Given the description of an element on the screen output the (x, y) to click on. 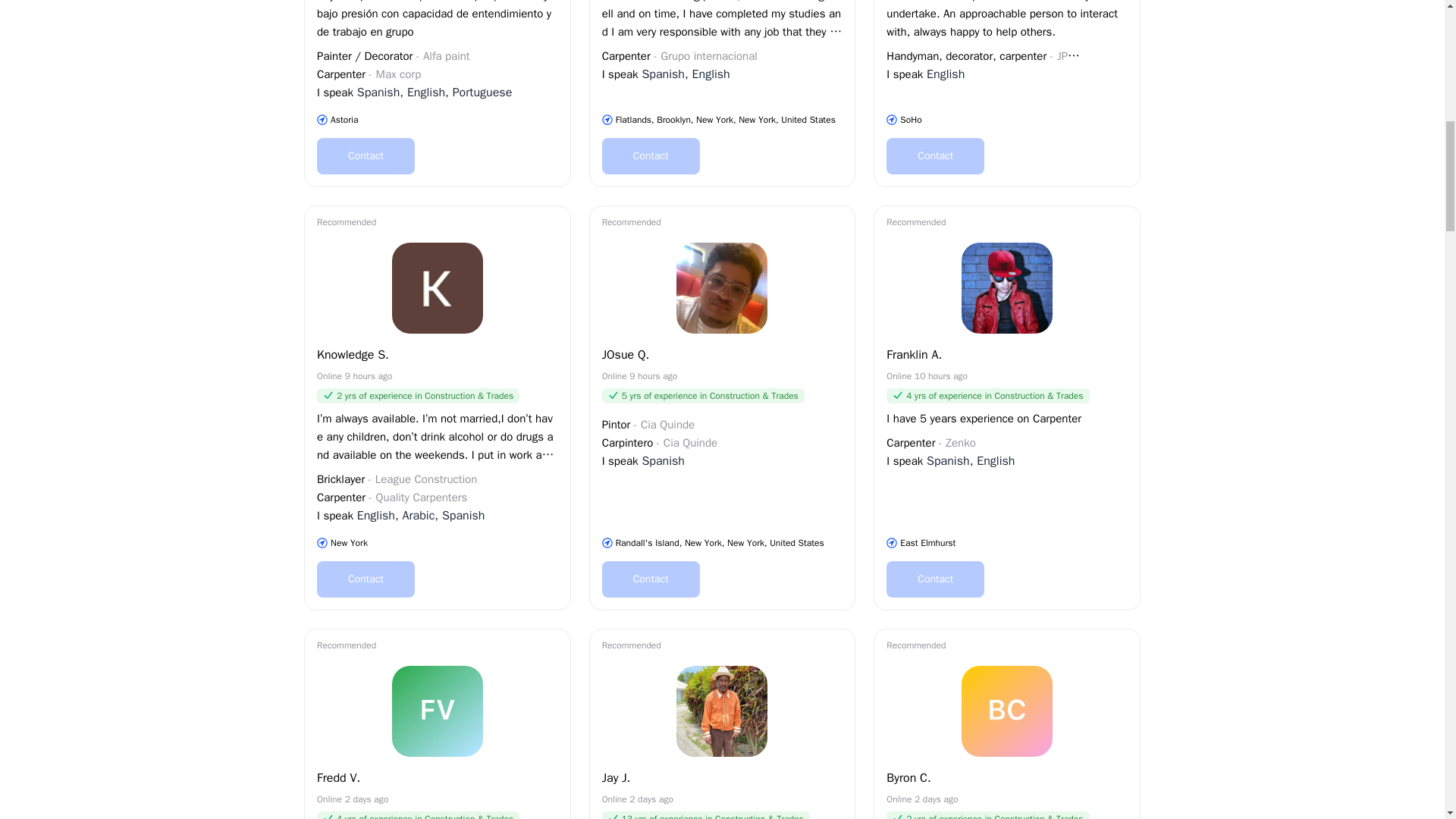
Contact (935, 156)
Contact (935, 579)
Contact (651, 579)
Contact (365, 579)
Contact (365, 156)
Contact (651, 156)
